Given the description of an element on the screen output the (x, y) to click on. 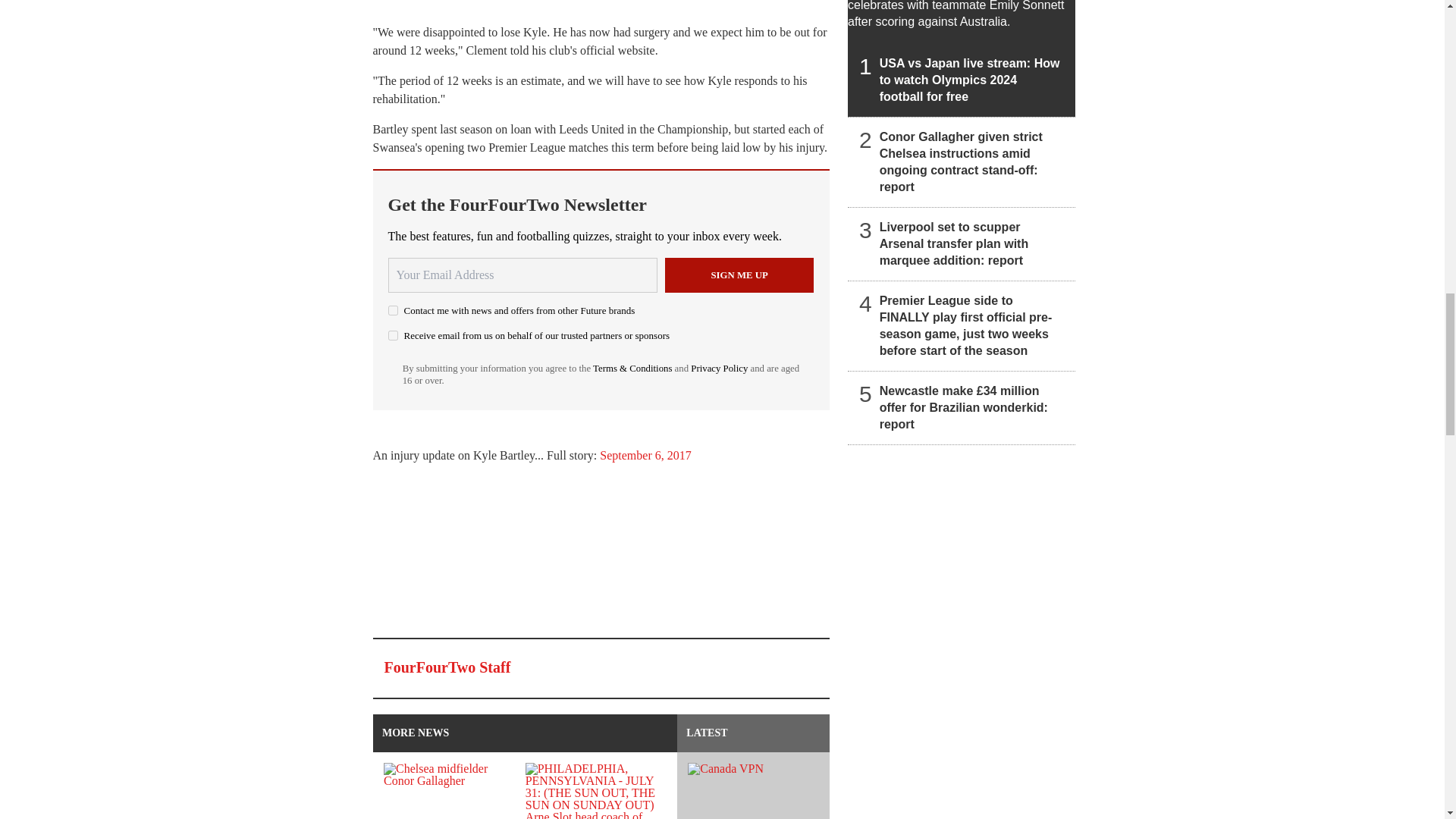
Sign me up (739, 274)
on (392, 335)
on (392, 310)
